Given the description of an element on the screen output the (x, y) to click on. 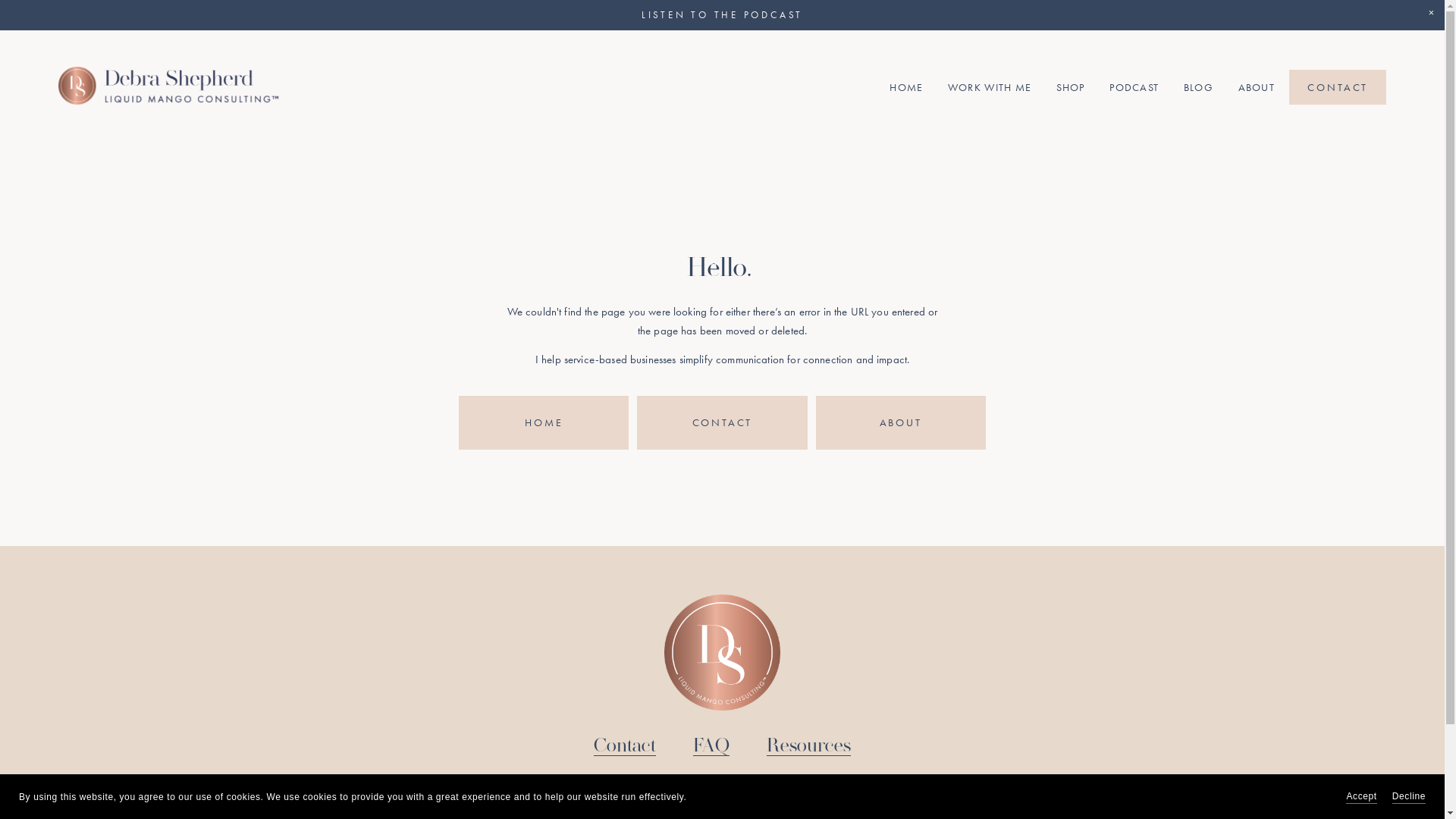
Contact Element type: text (624, 745)
Decline Element type: text (1408, 796)
PODCAST Element type: text (1133, 87)
ABOUT Element type: text (900, 422)
SHOP Element type: text (1070, 87)
FAQ Element type: text (711, 745)
HOME Element type: text (905, 87)
Accept Element type: text (1361, 796)
ABOUT Element type: text (1256, 87)
Resources Element type: text (808, 745)
HOME Element type: text (543, 422)
CONTACT Element type: text (721, 422)
BLOG Element type: text (1198, 87)
WORK WITH ME Element type: text (989, 87)
CONTACT Element type: text (1337, 86)
